Given the description of an element on the screen output the (x, y) to click on. 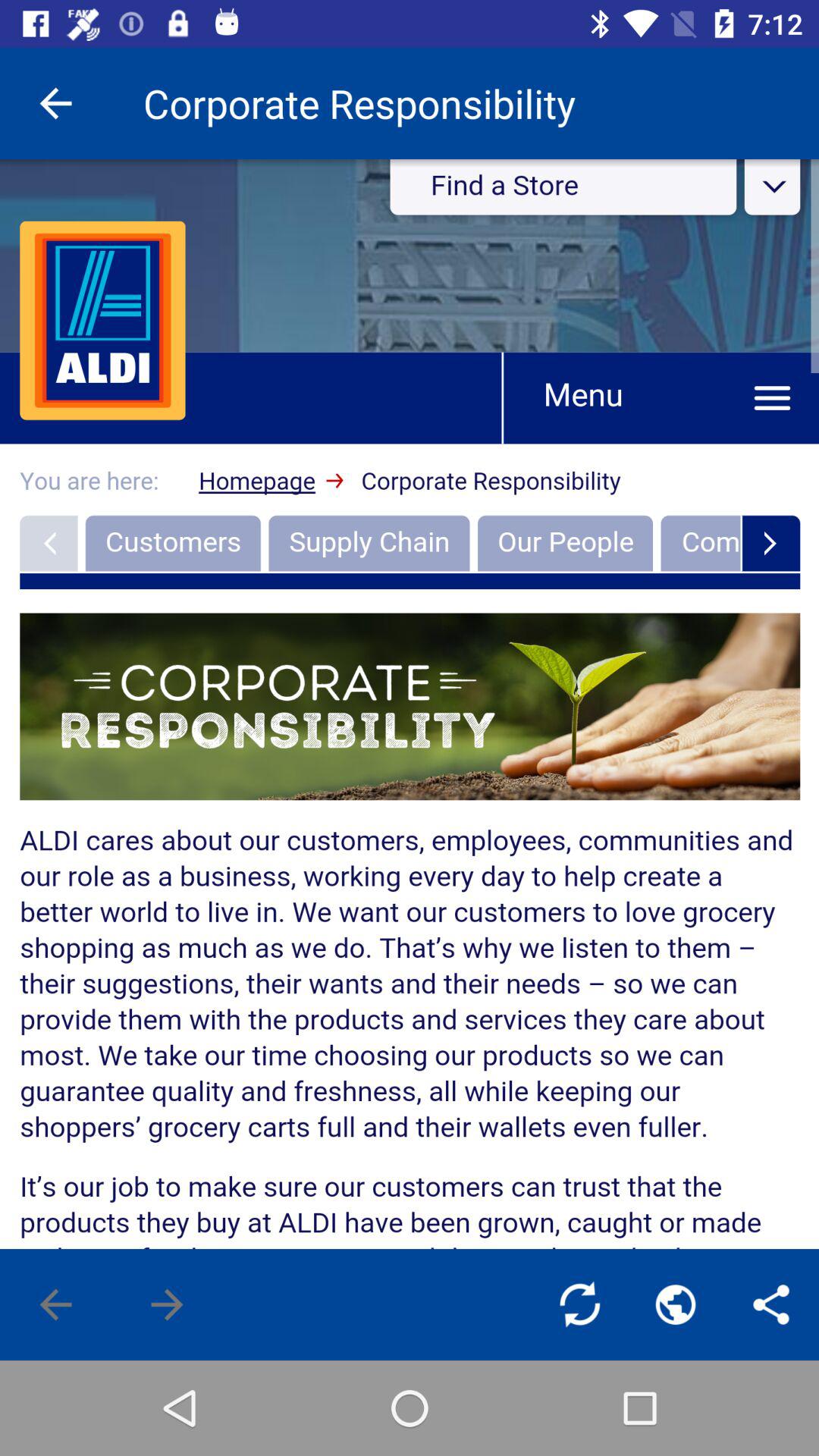
select the item at the center (409, 703)
